Given the description of an element on the screen output the (x, y) to click on. 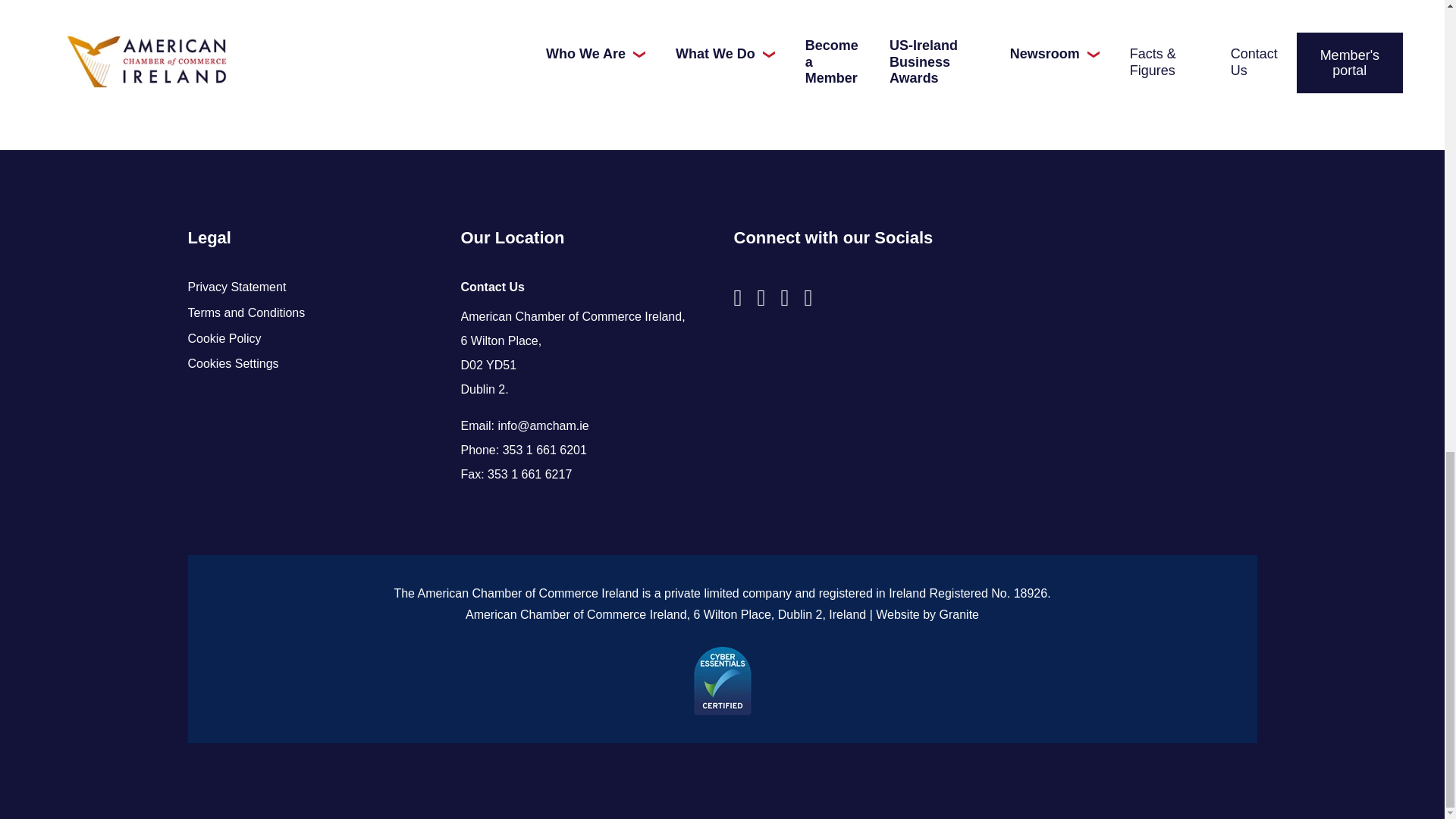
Privacy Statement (312, 287)
Terms and Conditions (312, 312)
Granite Digital (958, 614)
Cookie Policy (312, 338)
